Given the description of an element on the screen output the (x, y) to click on. 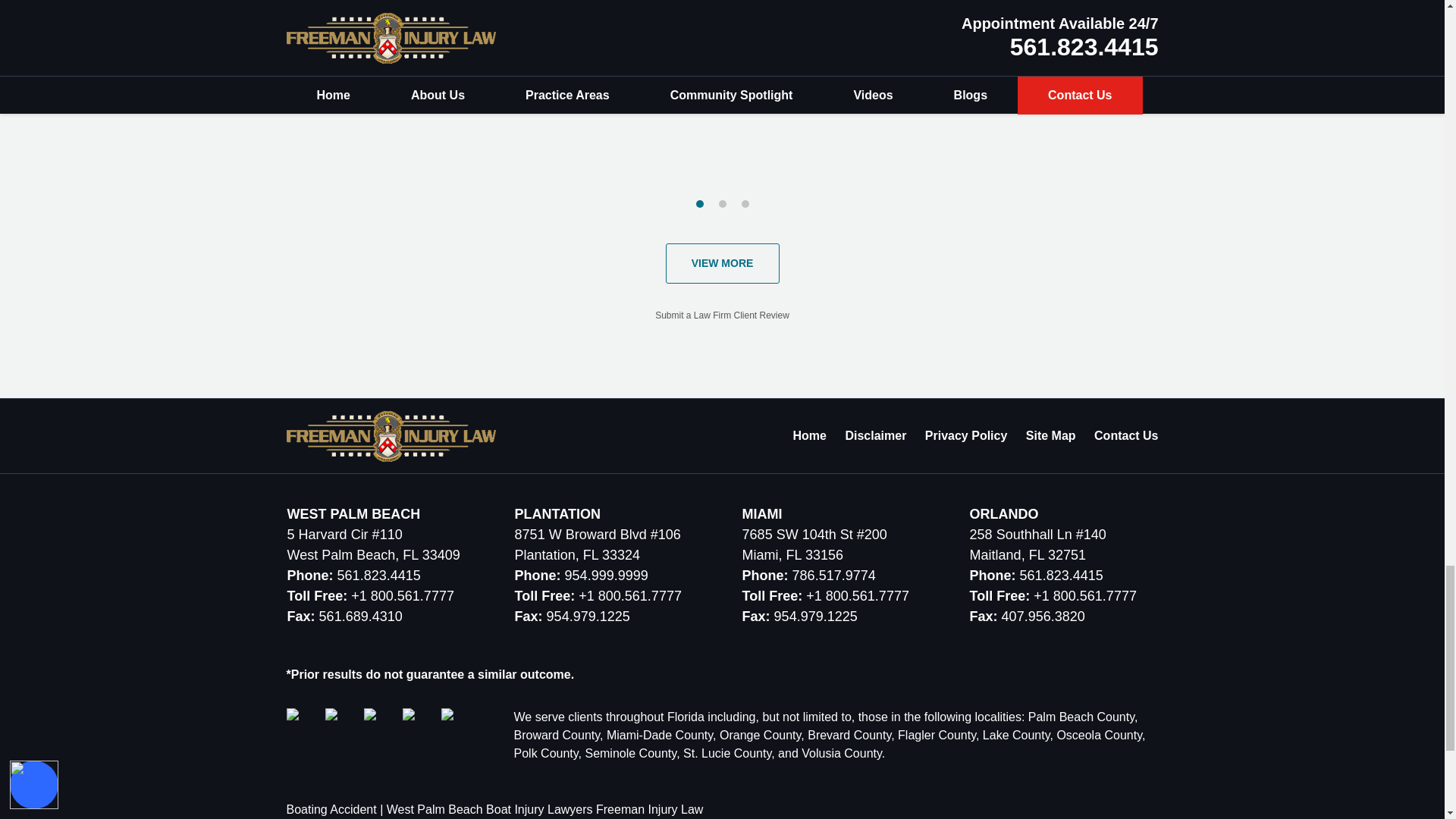
Instagram (458, 725)
Twitter (341, 725)
Facebook (303, 725)
Justia (381, 725)
YouTube (418, 725)
